Given the description of an element on the screen output the (x, y) to click on. 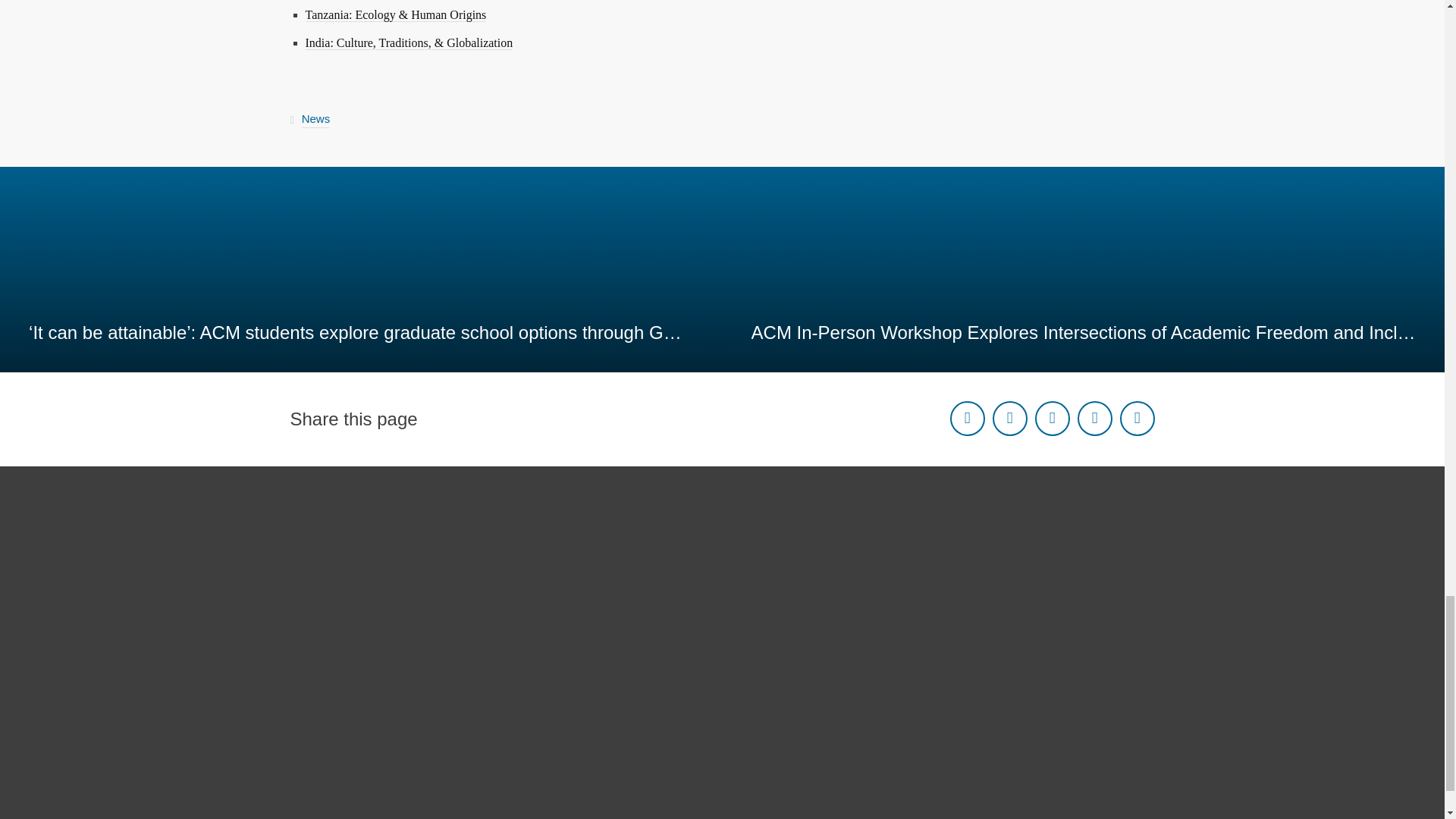
Share on LinkedIn (1050, 418)
Share on Twitter (1008, 418)
Share on Facebook (966, 418)
